Given the description of an element on the screen output the (x, y) to click on. 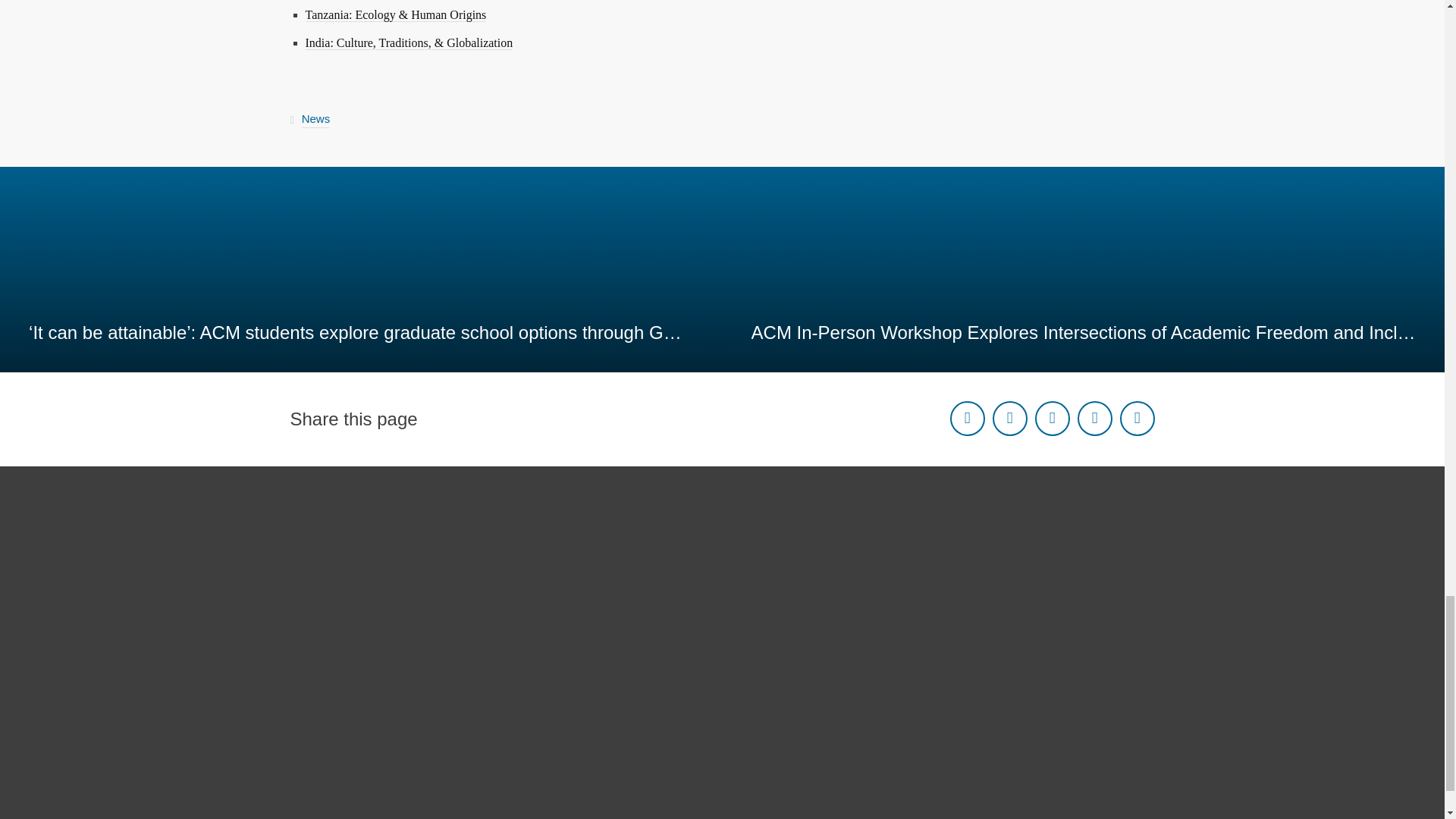
Share on LinkedIn (1050, 418)
Share on Twitter (1008, 418)
Share on Facebook (966, 418)
